Given the description of an element on the screen output the (x, y) to click on. 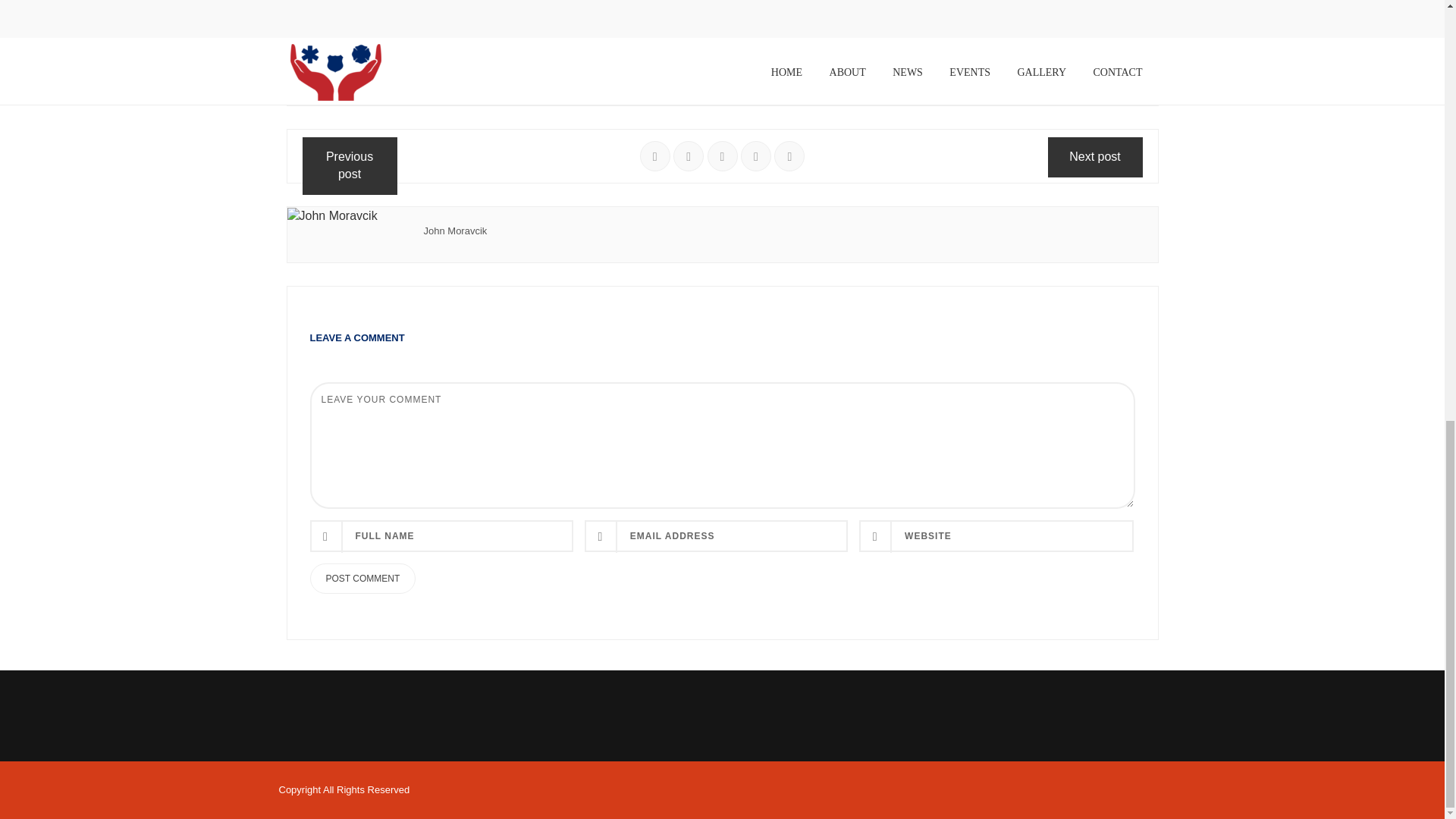
POST COMMENT (361, 578)
Next post (1095, 157)
Previous post (348, 165)
John Moravcik (454, 230)
POST COMMENT (361, 578)
